Given the description of an element on the screen output the (x, y) to click on. 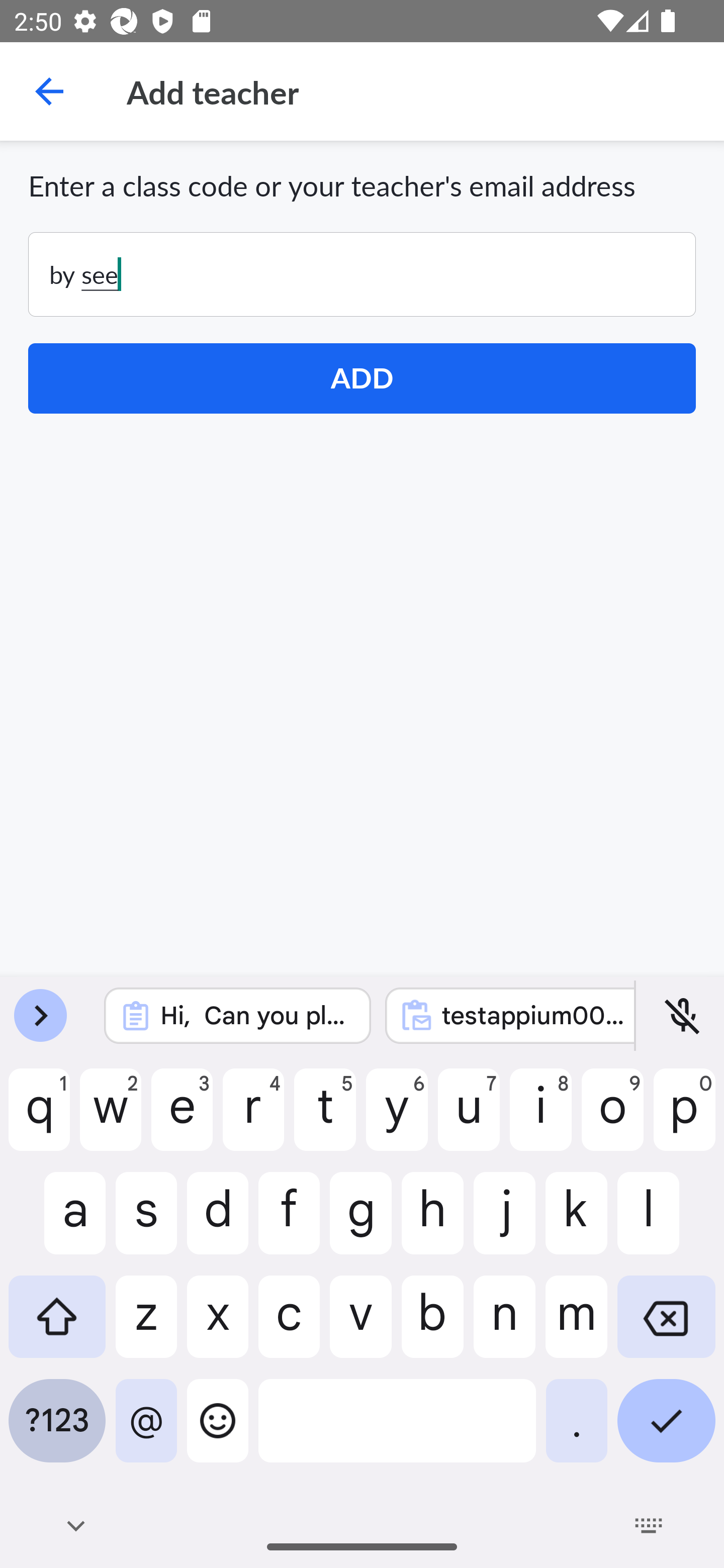
Navigate up (49, 91)
by see e.g. ABC123 or teacher@example.com (361, 274)
ADD (361, 378)
